Given the description of an element on the screen output the (x, y) to click on. 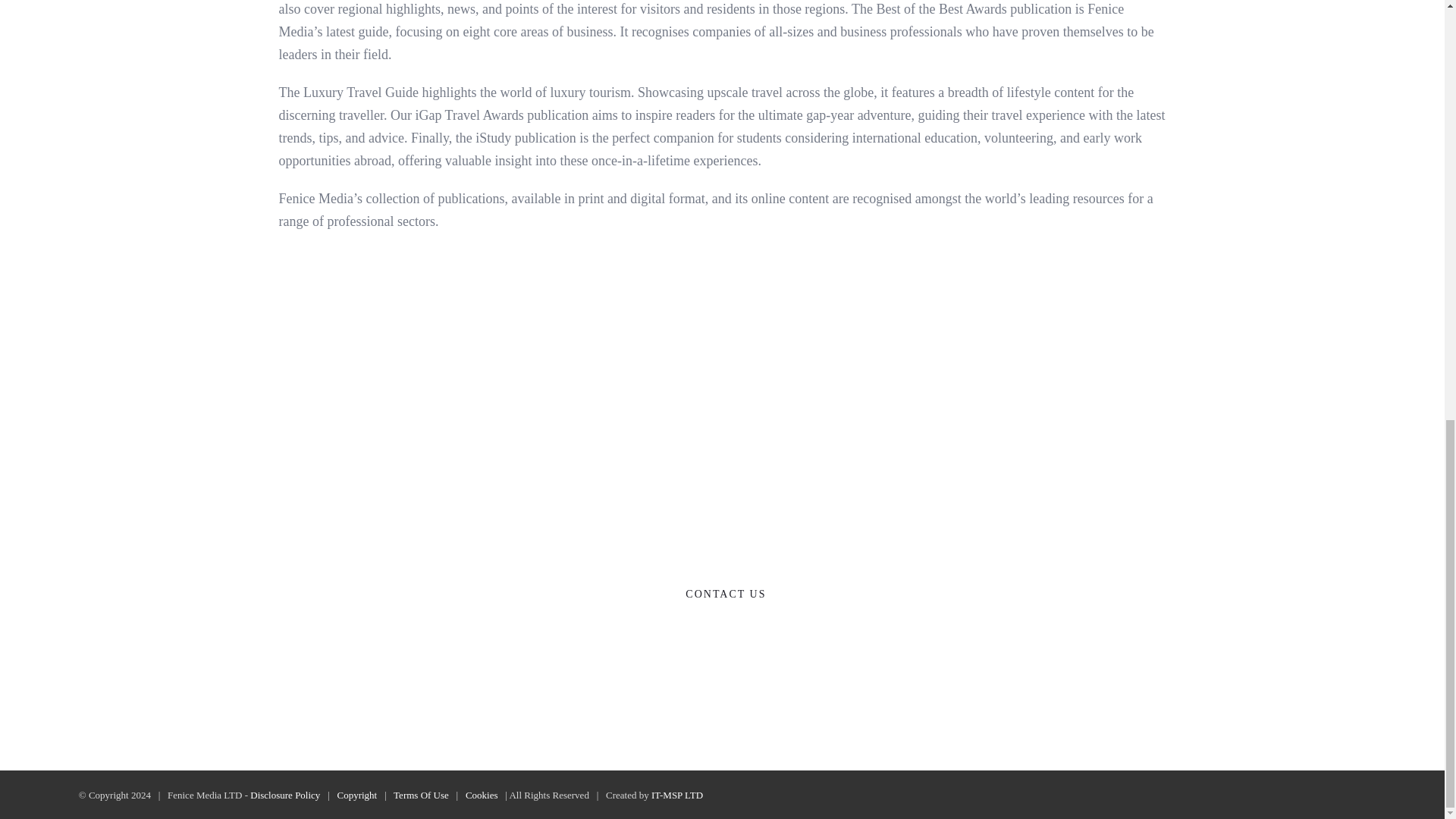
CONTACT US (722, 594)
Cookies (481, 794)
IT-MSP LTD (676, 794)
Copyright (356, 794)
Terms Of Use (420, 794)
Disclosure Policy (285, 794)
